Given the description of an element on the screen output the (x, y) to click on. 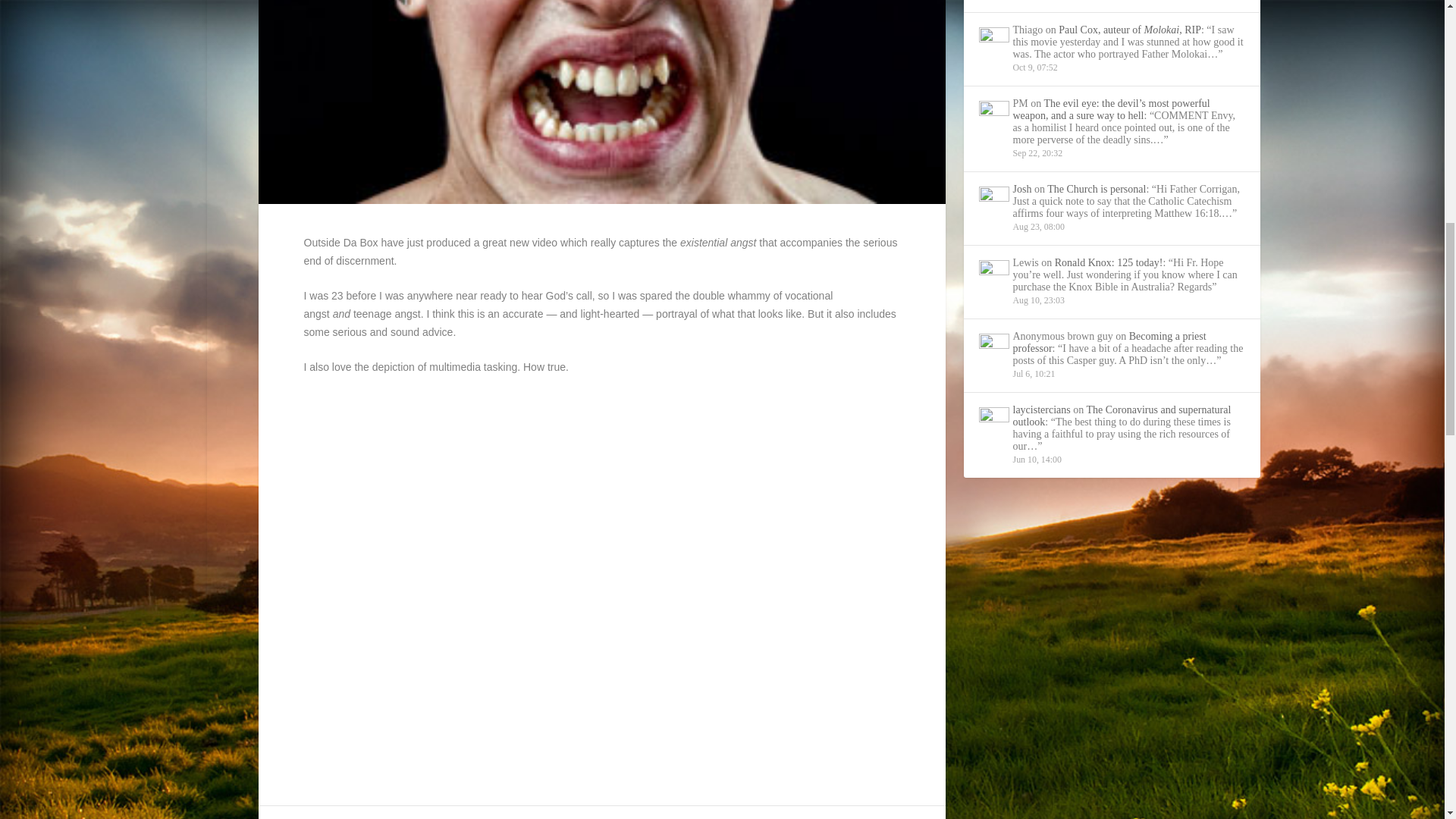
Share "Vocational angst!" via LinkedIn (552, 818)
Share "Vocational angst!" via Twitter (431, 818)
Share "Vocational angst!" via Tumblr (491, 818)
Share "Vocational angst!" via Email (643, 818)
Share "Vocational angst!" via Facebook (400, 818)
Share "Vocational angst!" via Stumbleupon (613, 818)
Share "Vocational angst!" via Pinterest (521, 818)
Share "Vocational angst!" via Buffer (582, 818)
Share "Vocational angst!" via Print (673, 818)
